Given the description of an element on the screen output the (x, y) to click on. 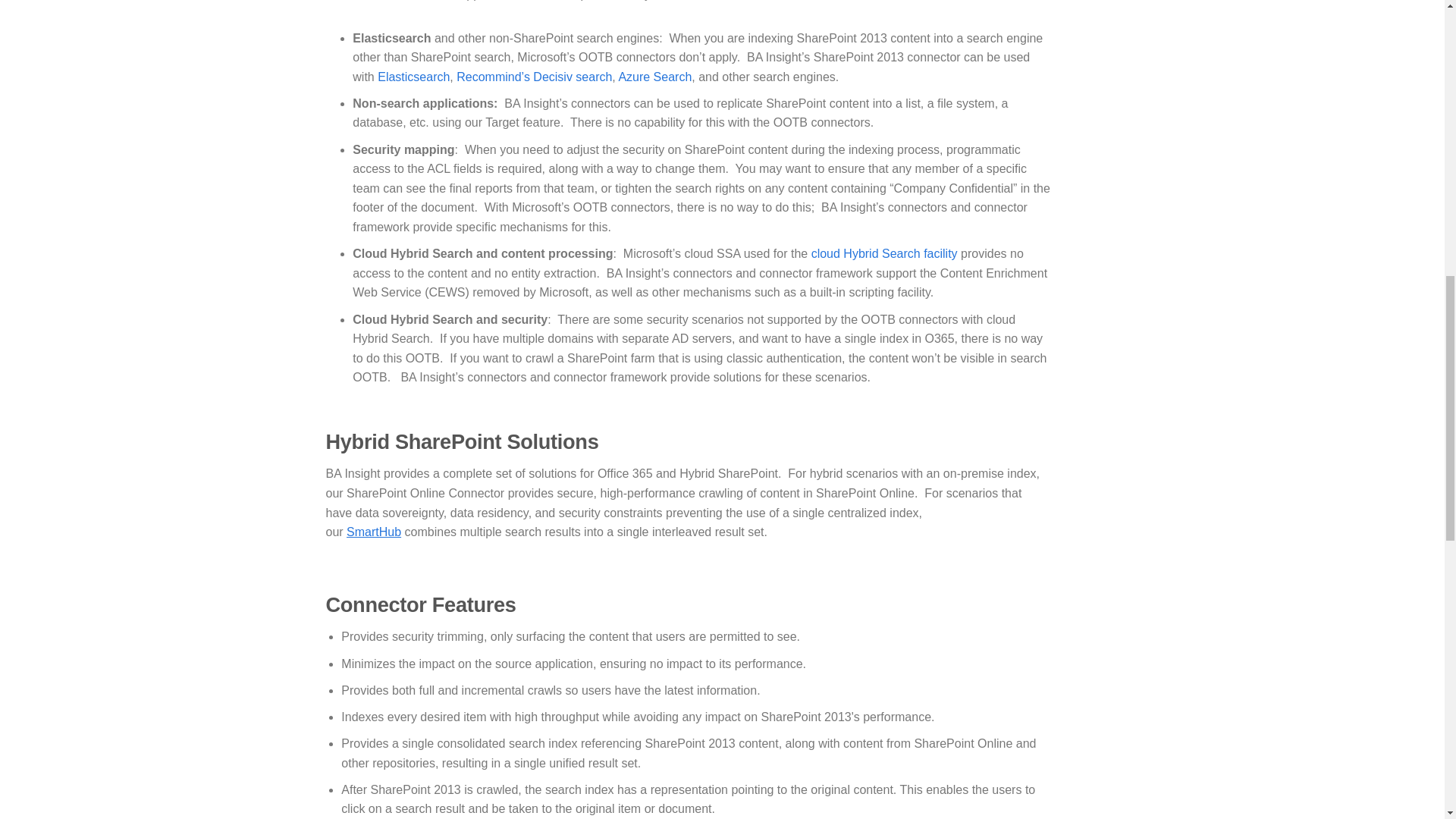
SmartHub (373, 531)
Azure Search (654, 76)
Elasticsearch (413, 76)
cloud Hybrid Search facility (884, 253)
